Given the description of an element on the screen output the (x, y) to click on. 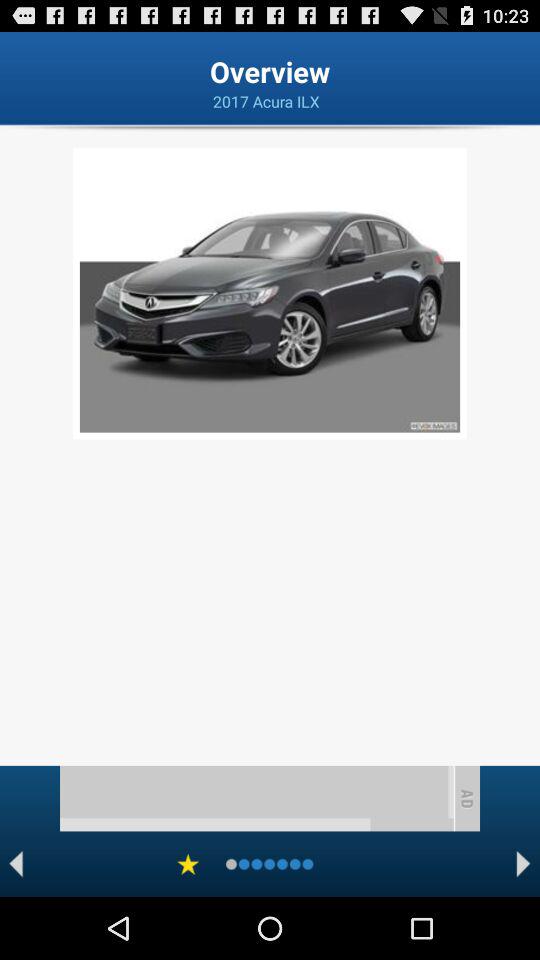
go to the next image (523, 864)
